Given the description of an element on the screen output the (x, y) to click on. 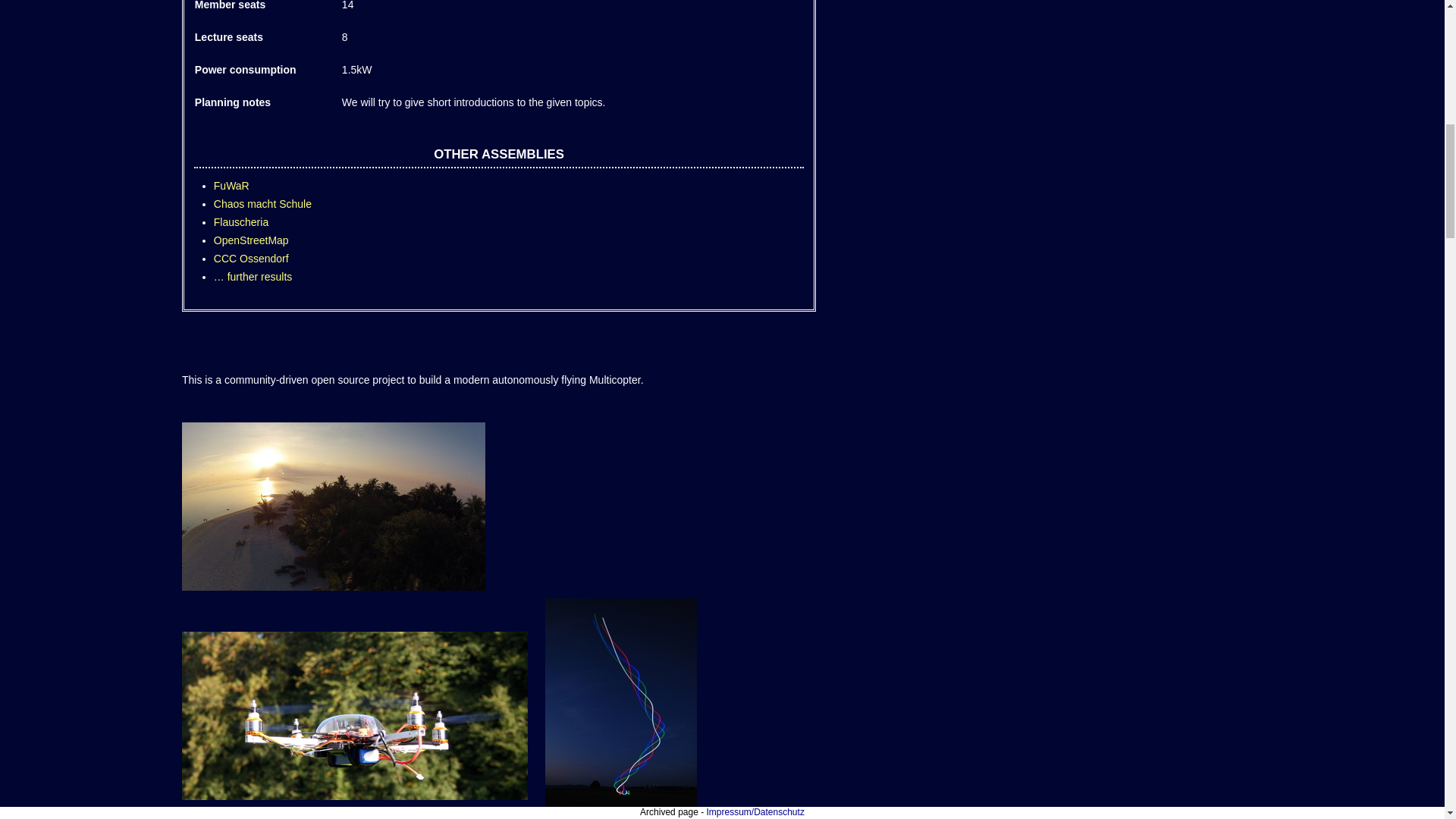
CCC Ossendorf (251, 258)
OpenStreetMap (251, 240)
Flauscheria (240, 222)
FuWaR (231, 185)
Chaos macht Schule (262, 203)
